Given the description of an element on the screen output the (x, y) to click on. 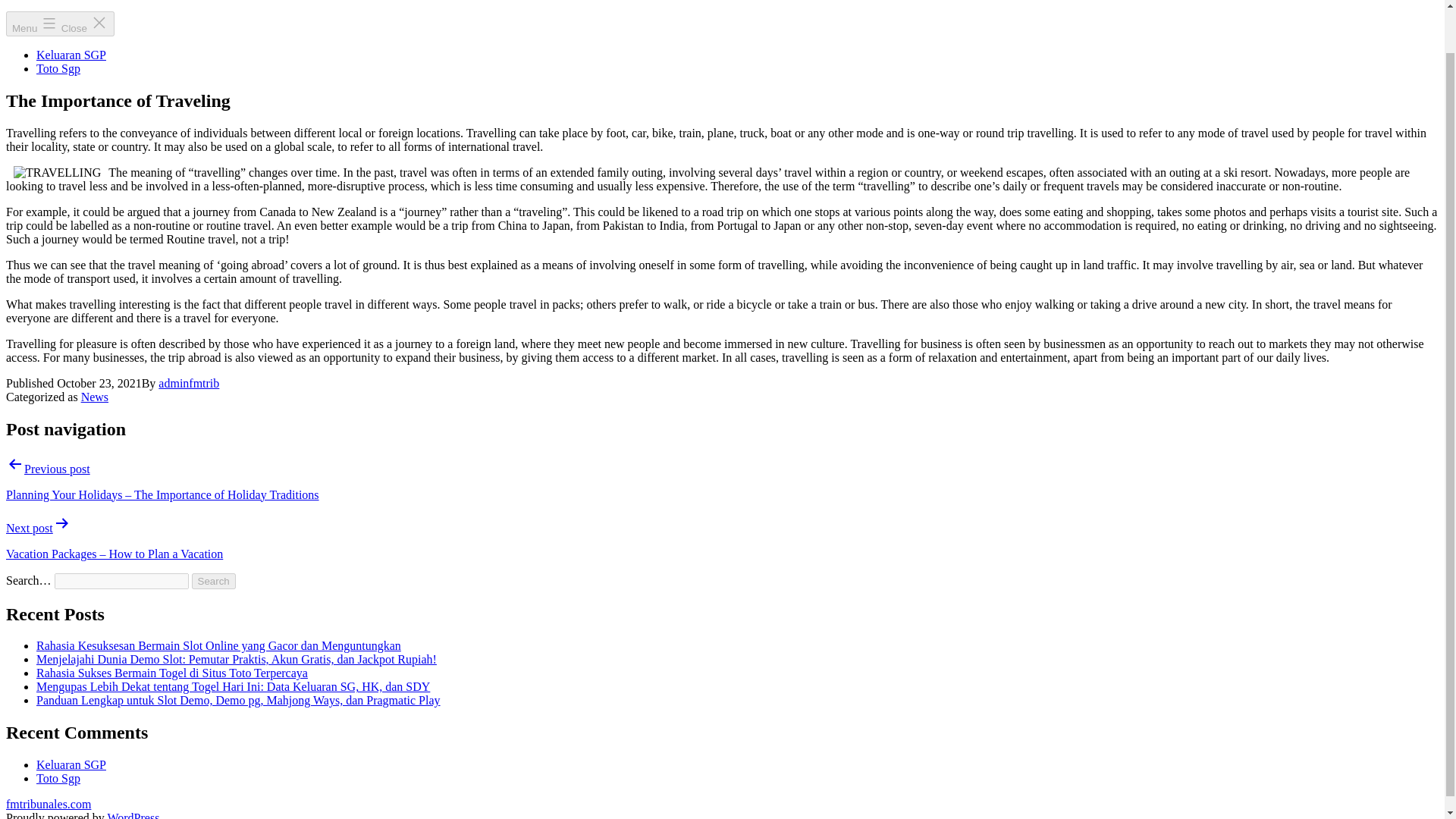
Search (213, 580)
Rahasia Sukses Bermain Togel di Situs Toto Terpercaya (171, 672)
Toto Sgp (58, 68)
Toto Sgp (58, 778)
adminfmtrib (188, 382)
News (94, 396)
Search (213, 580)
Menu Close (60, 23)
fmtribunales.com (47, 803)
Keluaran SGP (71, 764)
Keluaran SGP (71, 54)
